Given the description of an element on the screen output the (x, y) to click on. 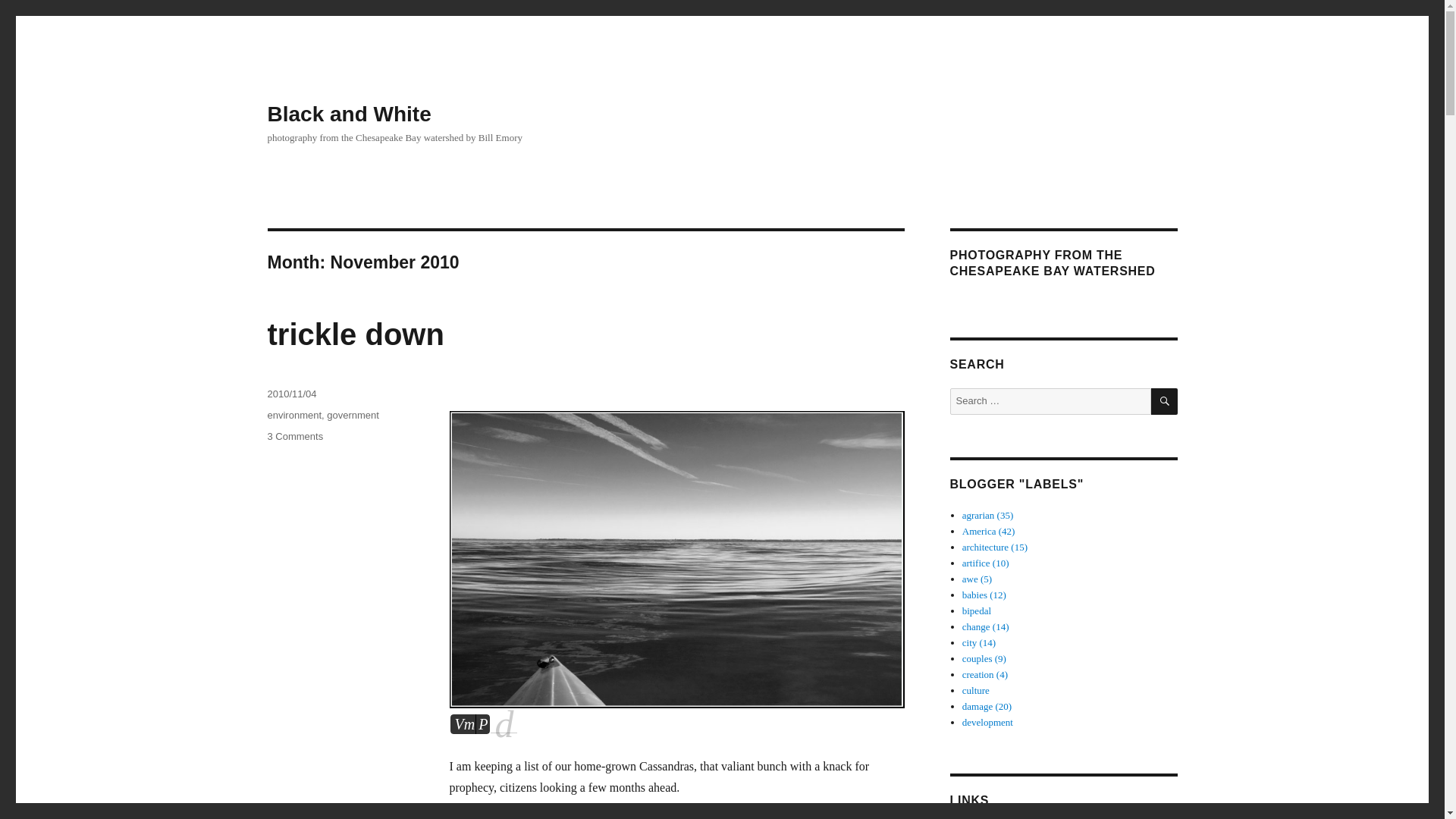
what is the city but the people?  (978, 642)
government (352, 414)
sometime change results in this (986, 706)
SEARCH (1164, 401)
Black and White (294, 436)
what developers do (348, 114)
trickle down (987, 722)
two of something (355, 334)
co1024-7417-rappahannock (984, 658)
